Given the description of an element on the screen output the (x, y) to click on. 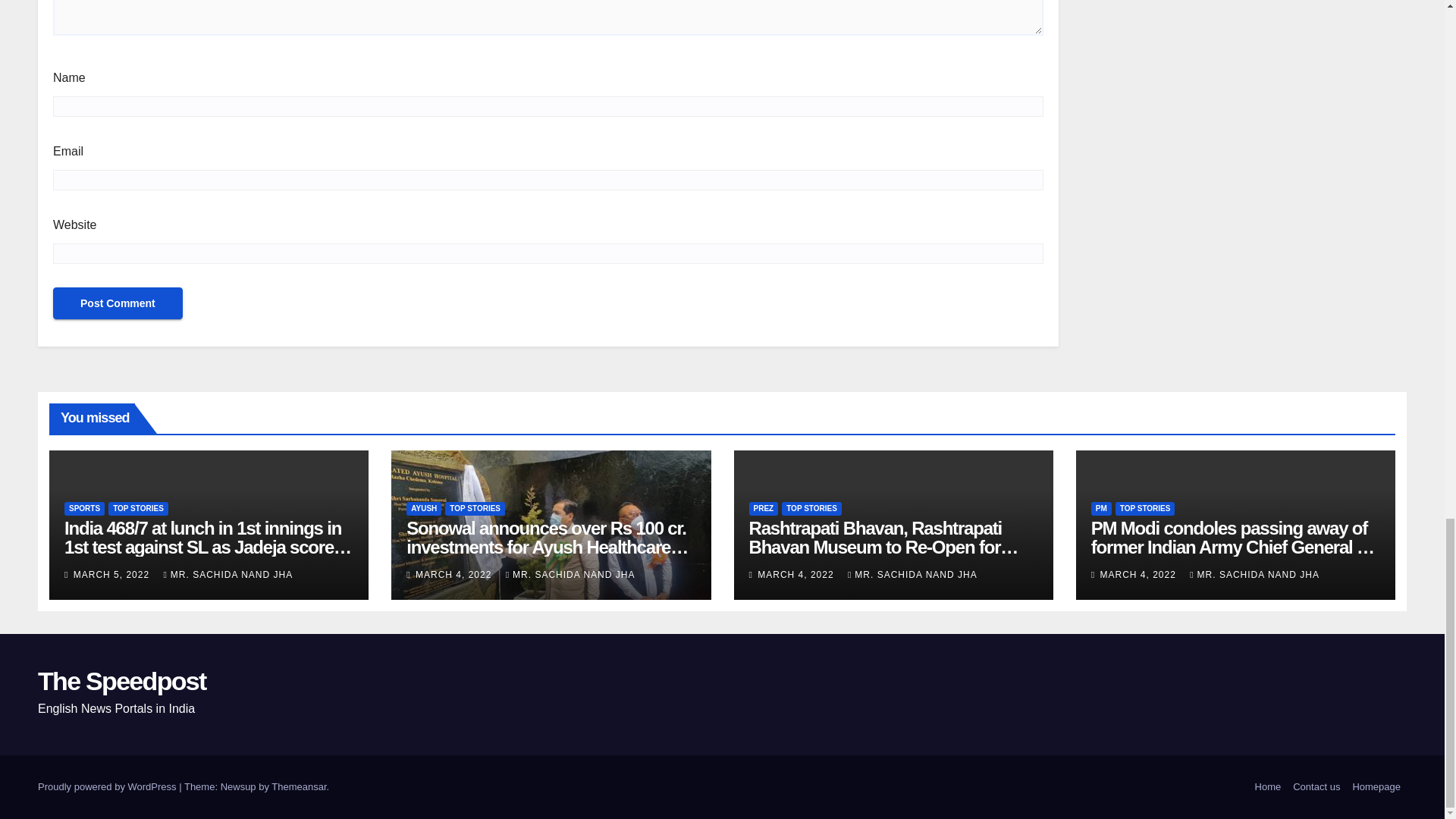
Post Comment (117, 303)
